Given the description of an element on the screen output the (x, y) to click on. 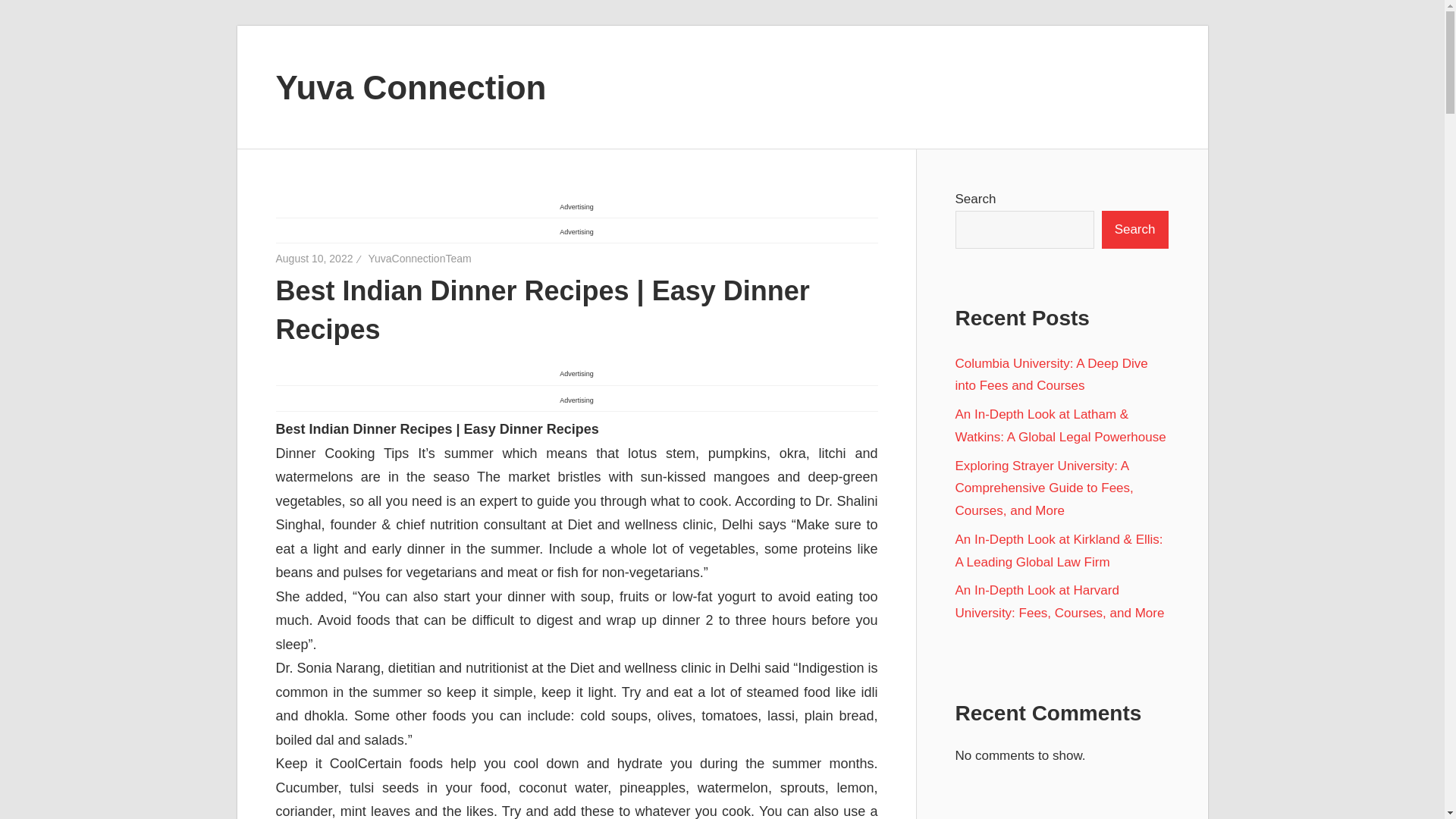
Columbia University: A Deep Dive into Fees and Courses (1051, 374)
Yuva Connection (411, 86)
View all posts by YuvaConnectionTeam (419, 257)
YuvaConnectionTeam (419, 257)
12:22 pm (314, 257)
August 10, 2022 (314, 257)
Search (1135, 229)
